Given the description of an element on the screen output the (x, y) to click on. 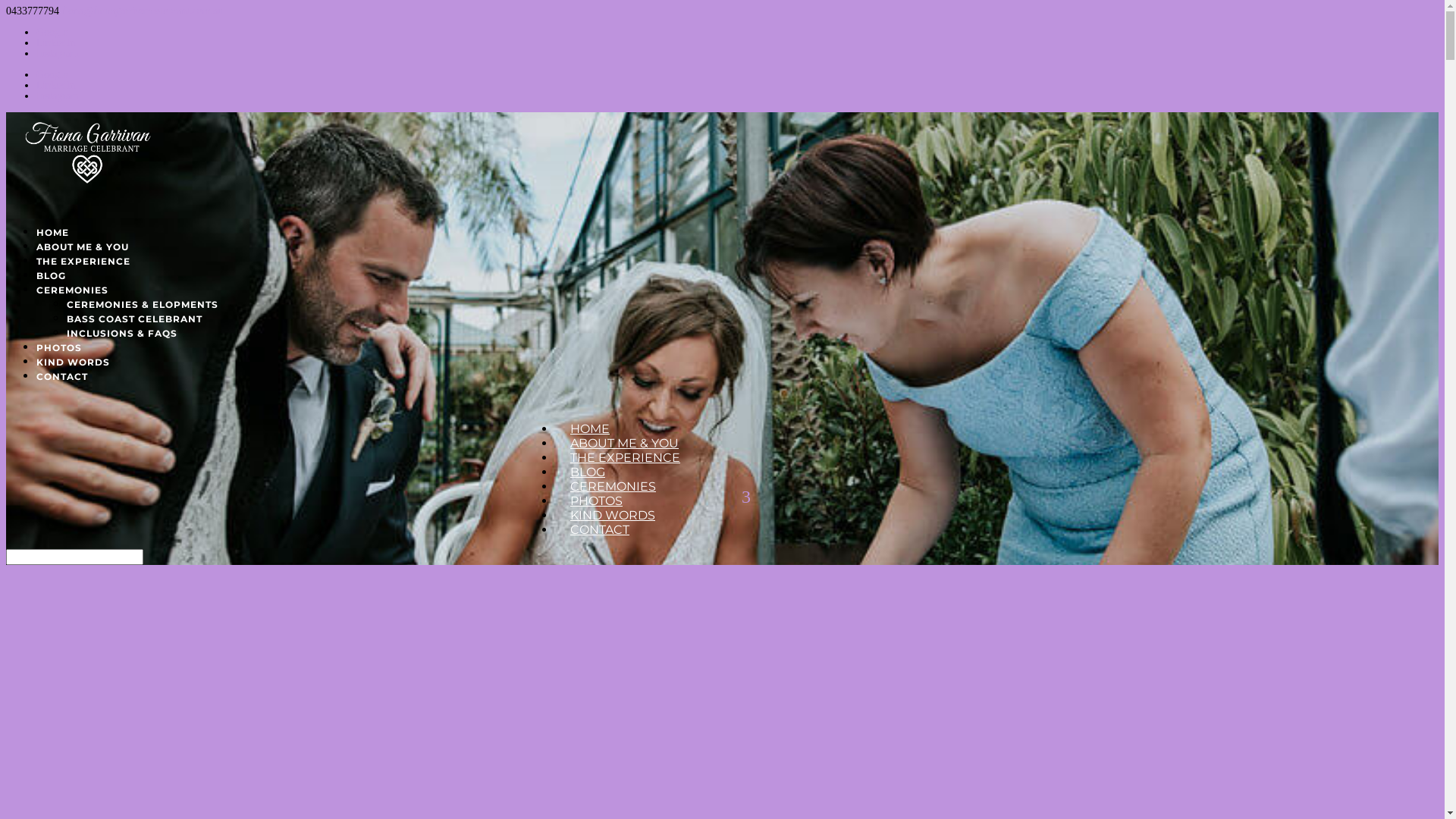
ABOUT ME & YOU Element type: text (82, 255)
BASS COAST CELEBRANT Element type: text (134, 318)
LinkedIn Element type: text (55, 42)
PHOTOS Element type: text (596, 500)
ABOUT ME & YOU Element type: text (624, 443)
KIND WORDS Element type: text (72, 370)
Instagram Element type: text (57, 95)
Google Element type: text (51, 31)
BLOG Element type: text (587, 471)
INCLUSIONS & FAQS Element type: text (121, 332)
KIND WORDS Element type: text (612, 515)
PHOTOS Element type: text (58, 356)
CEREMONIES & ELOPMENTS Element type: text (142, 304)
LinkedIn Element type: text (55, 85)
HOME Element type: text (589, 428)
CEREMONIES Element type: text (613, 486)
fiona@fionagarrivancelebrant.com.au Element type: text (142, 10)
CEREMONIES Element type: text (72, 298)
Search for: Element type: hover (74, 556)
THE EXPERIENCE Element type: text (625, 457)
Google Element type: text (51, 74)
Instagram Element type: text (57, 53)
THE EXPERIENCE Element type: text (83, 270)
HOME Element type: text (52, 241)
CONTACT Element type: text (61, 385)
CONTACT Element type: text (599, 529)
BLOG Element type: text (50, 284)
